Given the description of an element on the screen output the (x, y) to click on. 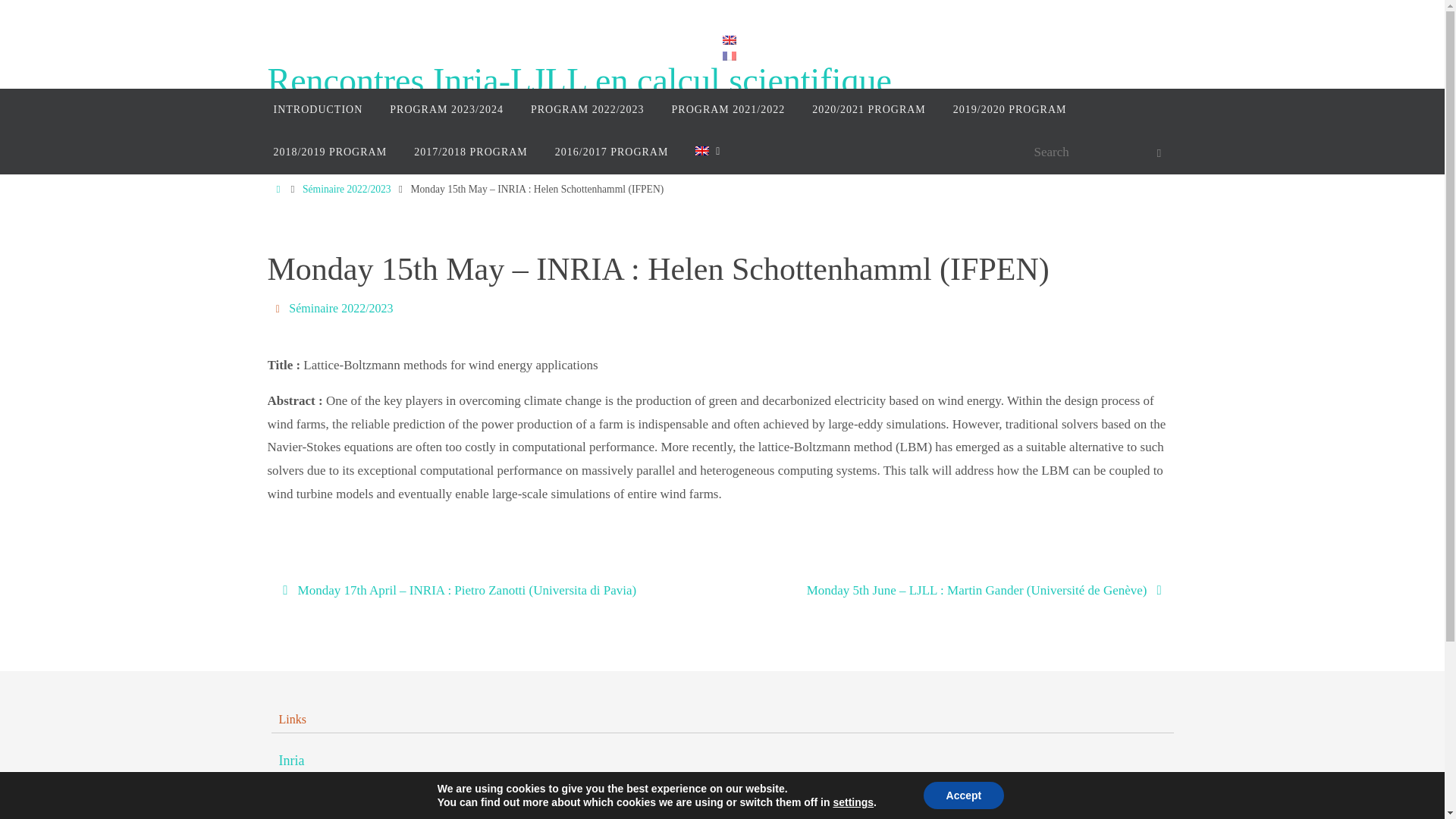
INTRODUCTION (317, 109)
LJLL (293, 791)
Search (1158, 153)
Home (277, 188)
Categories (278, 308)
Rencontres Inria-LJLL en calcul scientifique (578, 81)
settings (852, 802)
English (703, 152)
Rencontres Inria-LJLL en calcul scientifique (578, 81)
Inria (291, 760)
Accept (963, 795)
